Given the description of an element on the screen output the (x, y) to click on. 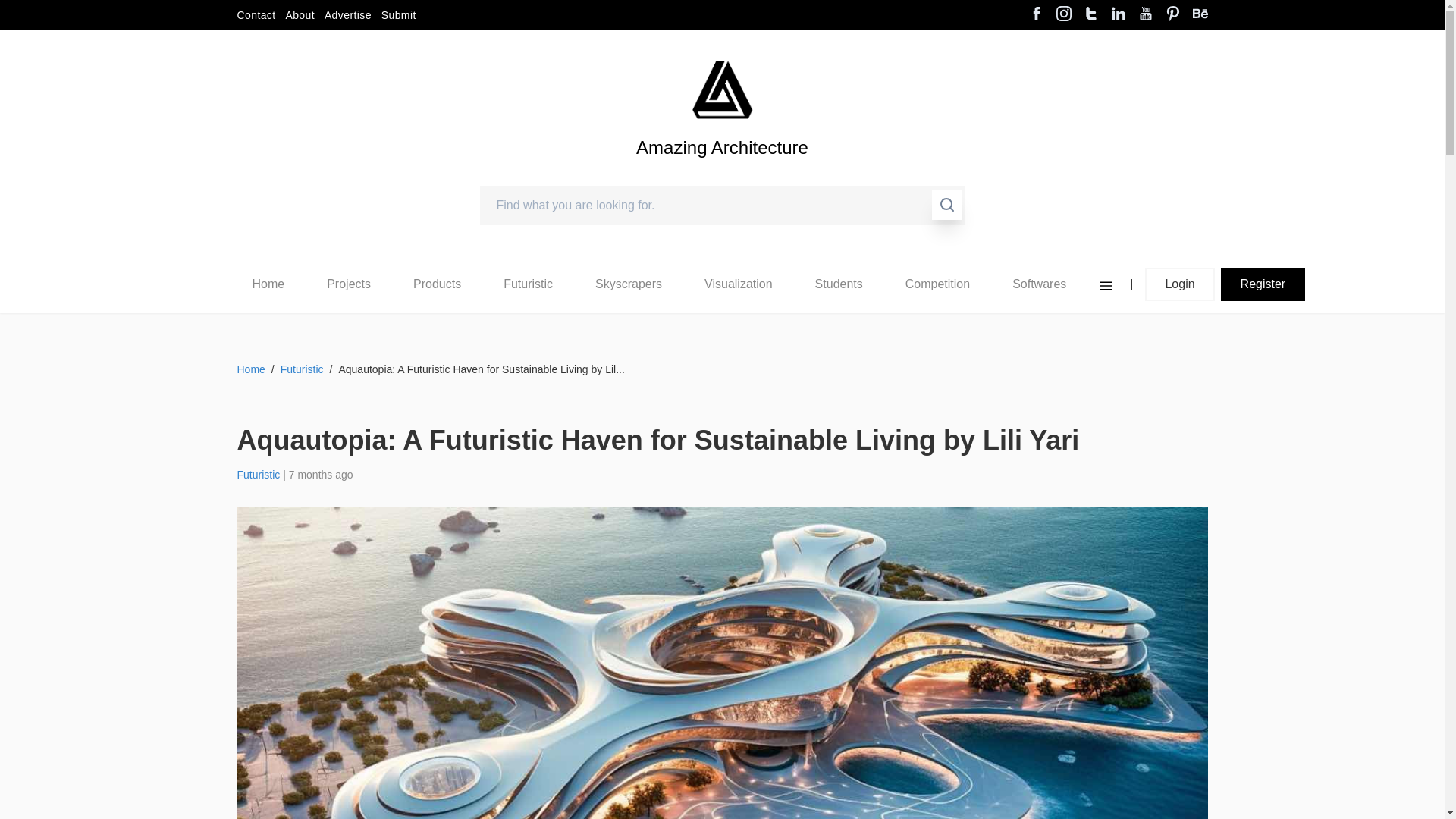
Contact (255, 15)
Amazing Architecture (722, 173)
Projects (348, 284)
Products (437, 283)
Home (267, 283)
About (299, 15)
Home (267, 283)
Projects (348, 283)
Home (267, 284)
Submit page (398, 15)
